Given the description of an element on the screen output the (x, y) to click on. 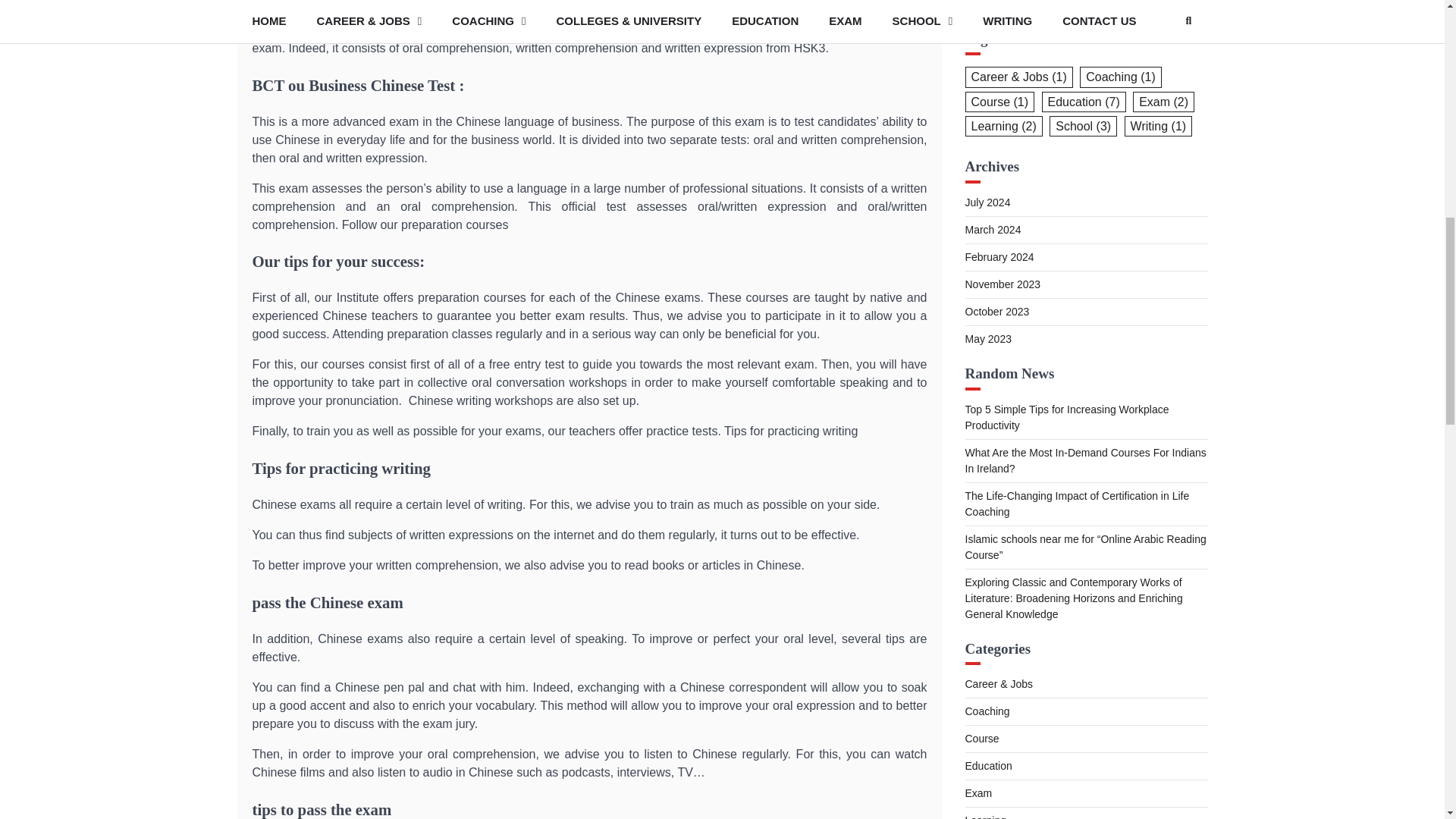
Chinese exams (760, 2)
